Given the description of an element on the screen output the (x, y) to click on. 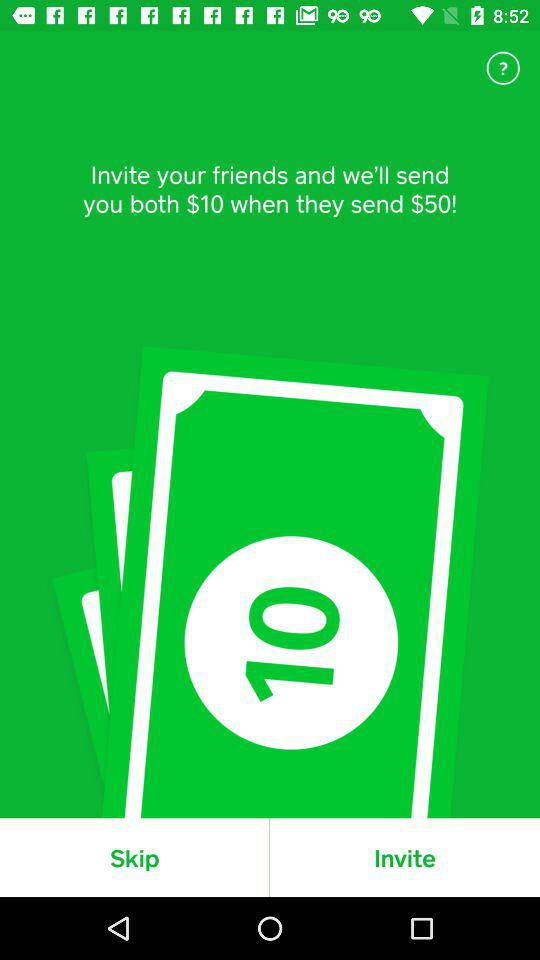
select item at the top right corner (503, 68)
